Given the description of an element on the screen output the (x, y) to click on. 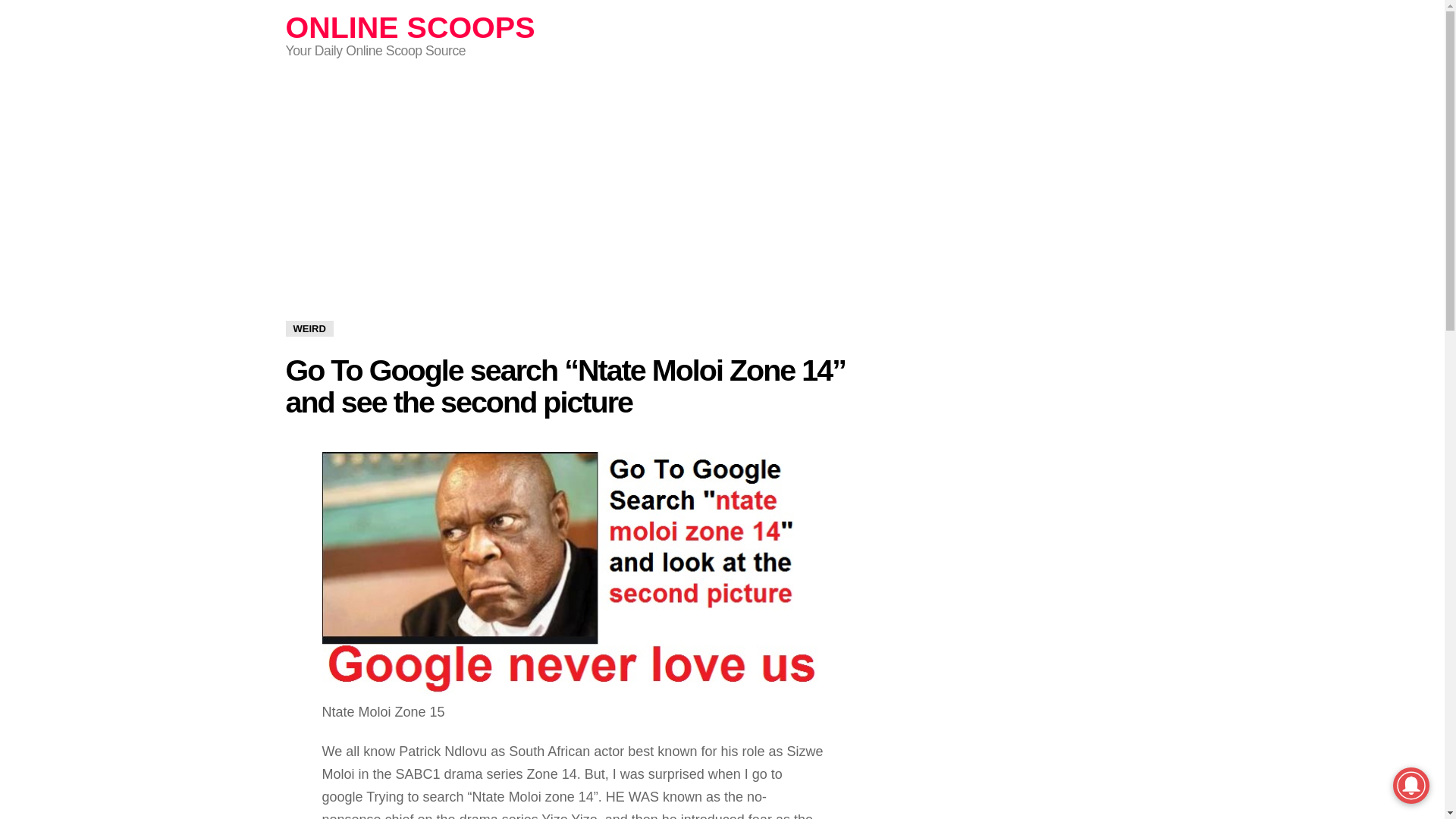
WEIRD (309, 328)
ONLINE SCOOPS (409, 27)
